Given the description of an element on the screen output the (x, y) to click on. 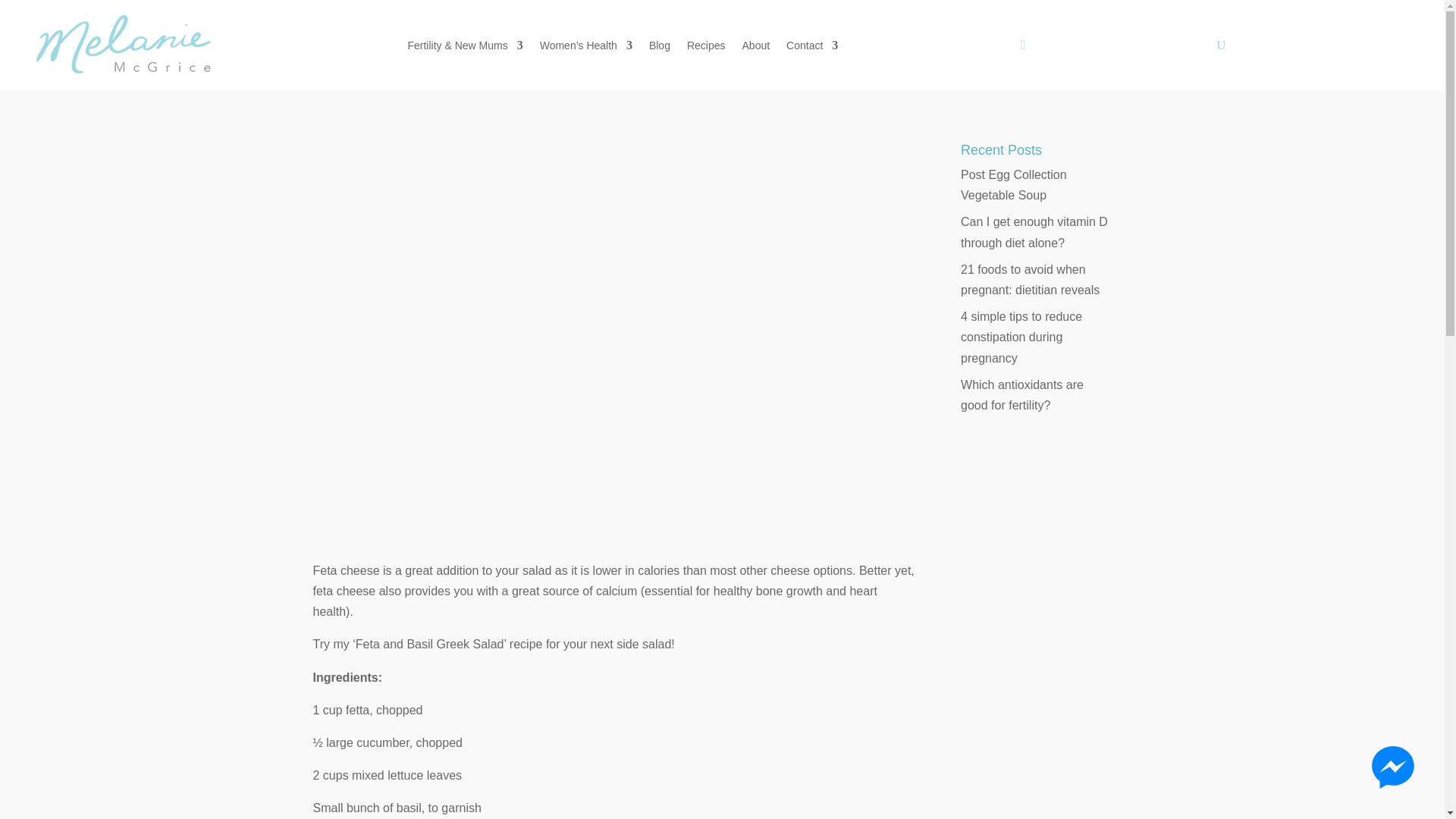
Which antioxidants are good for fertility? (1021, 394)
Can I get enough vitamin D through diet alone? (1034, 231)
4 simple tips to reduce constipation during pregnancy (1020, 336)
21 foods to avoid when pregnant: dietitian reveals (1029, 279)
Post Egg Collection Vegetable Soup (1013, 184)
